Given the description of an element on the screen output the (x, y) to click on. 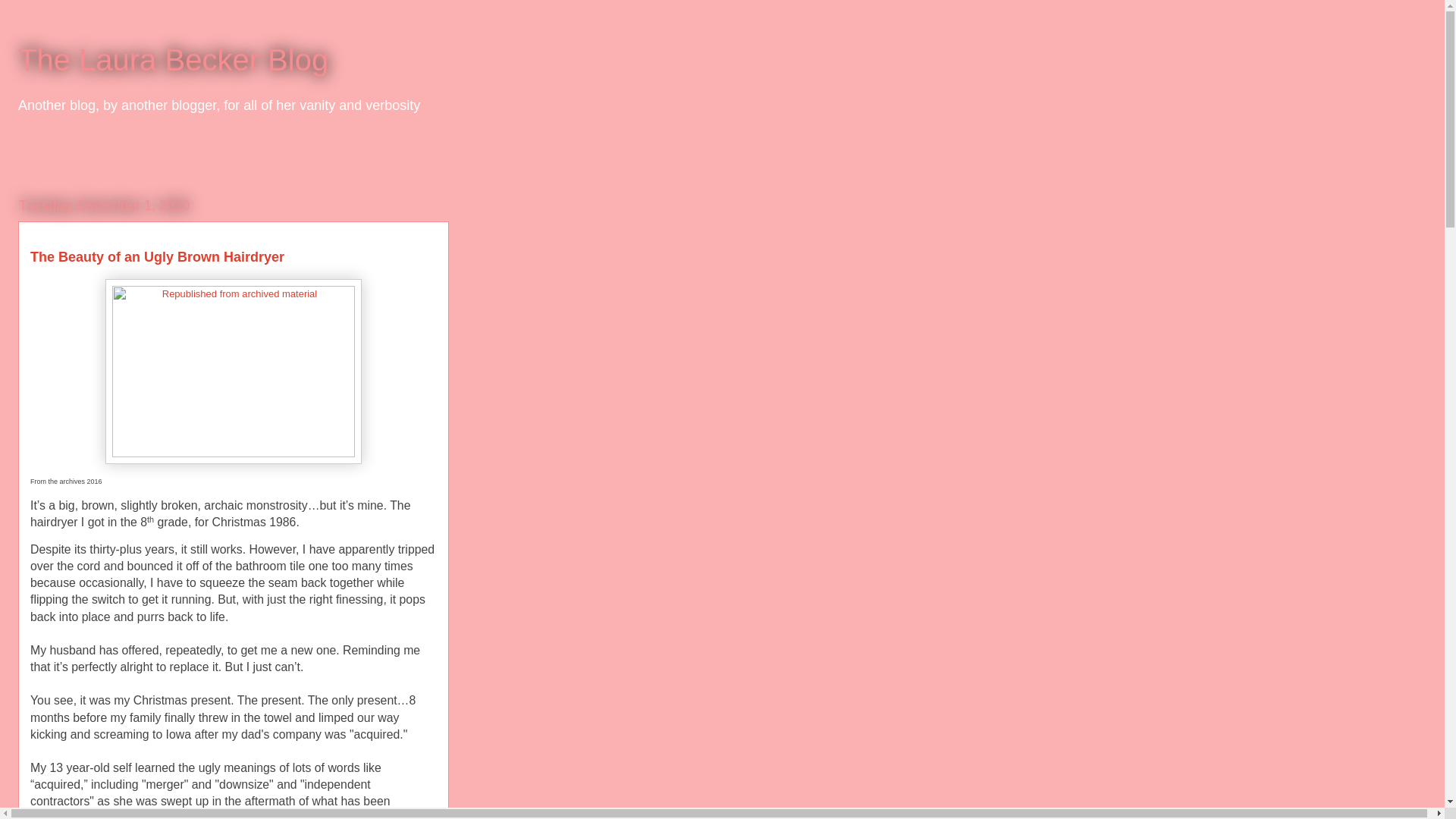
Republished from archived material (232, 371)
The Laura Becker Blog (173, 59)
